Given the description of an element on the screen output the (x, y) to click on. 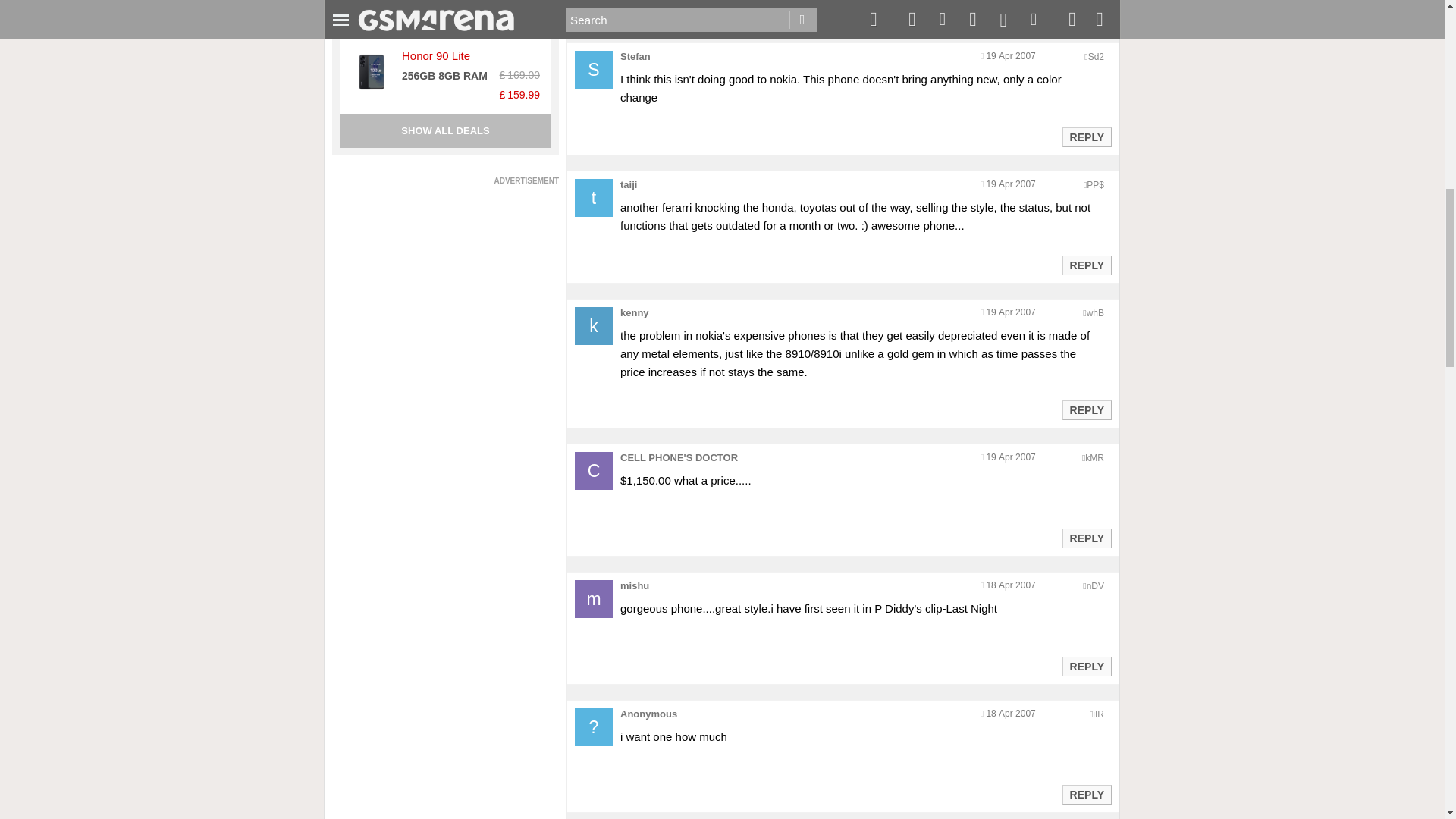
REPLY (1086, 136)
REPLY (1086, 265)
Reply to this post (1086, 410)
REPLY (1086, 9)
Encoded anonymized location (1095, 56)
Reply to this post (1086, 538)
Encoded anonymized location (1094, 312)
Reply to this post (1086, 9)
Reply to this post (1086, 137)
Encoded anonymized location (1093, 457)
Encoded anonymized location (1094, 184)
Reply to this post (1086, 265)
